Given the description of an element on the screen output the (x, y) to click on. 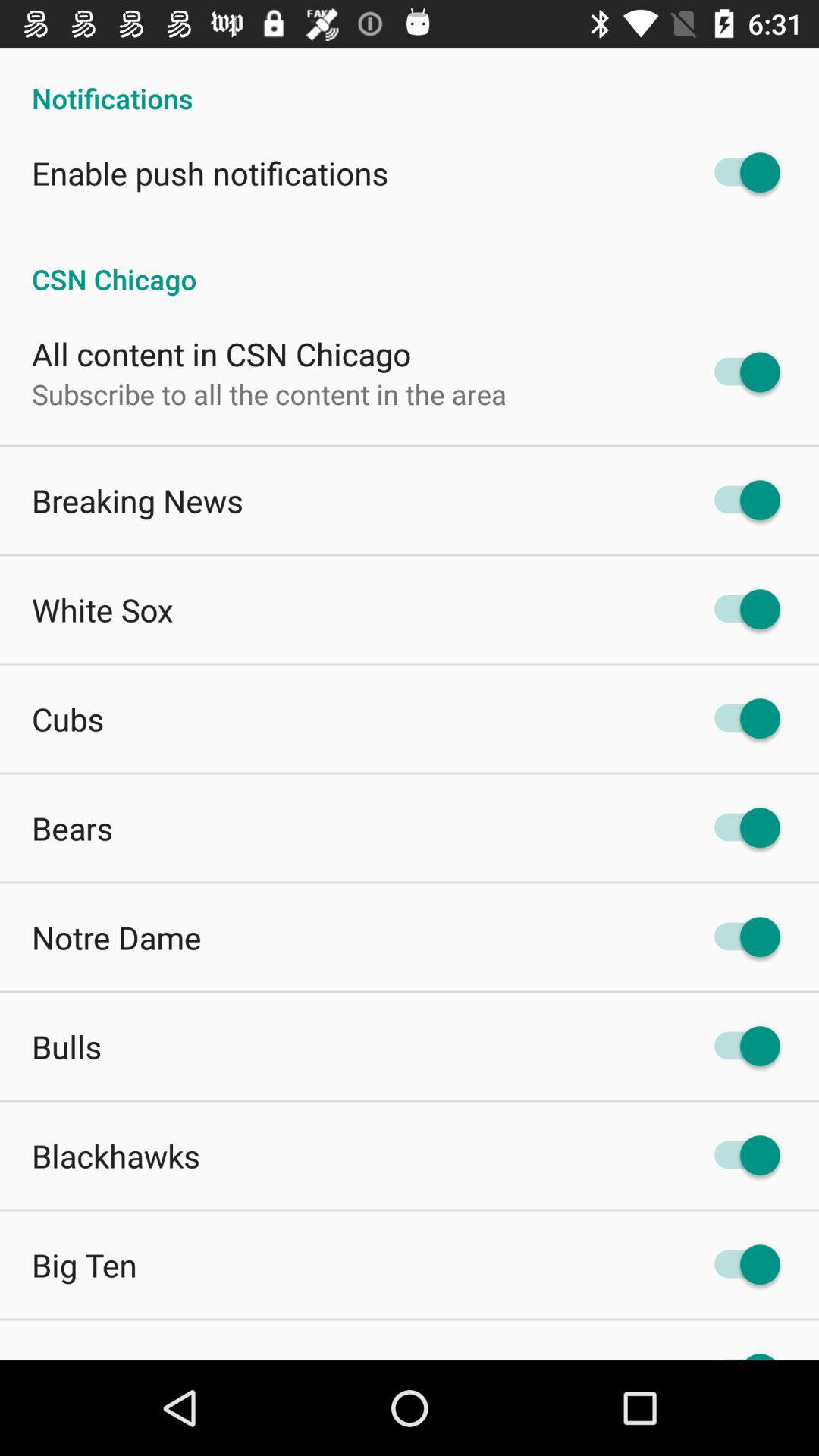
press the item below the bulls app (115, 1155)
